Given the description of an element on the screen output the (x, y) to click on. 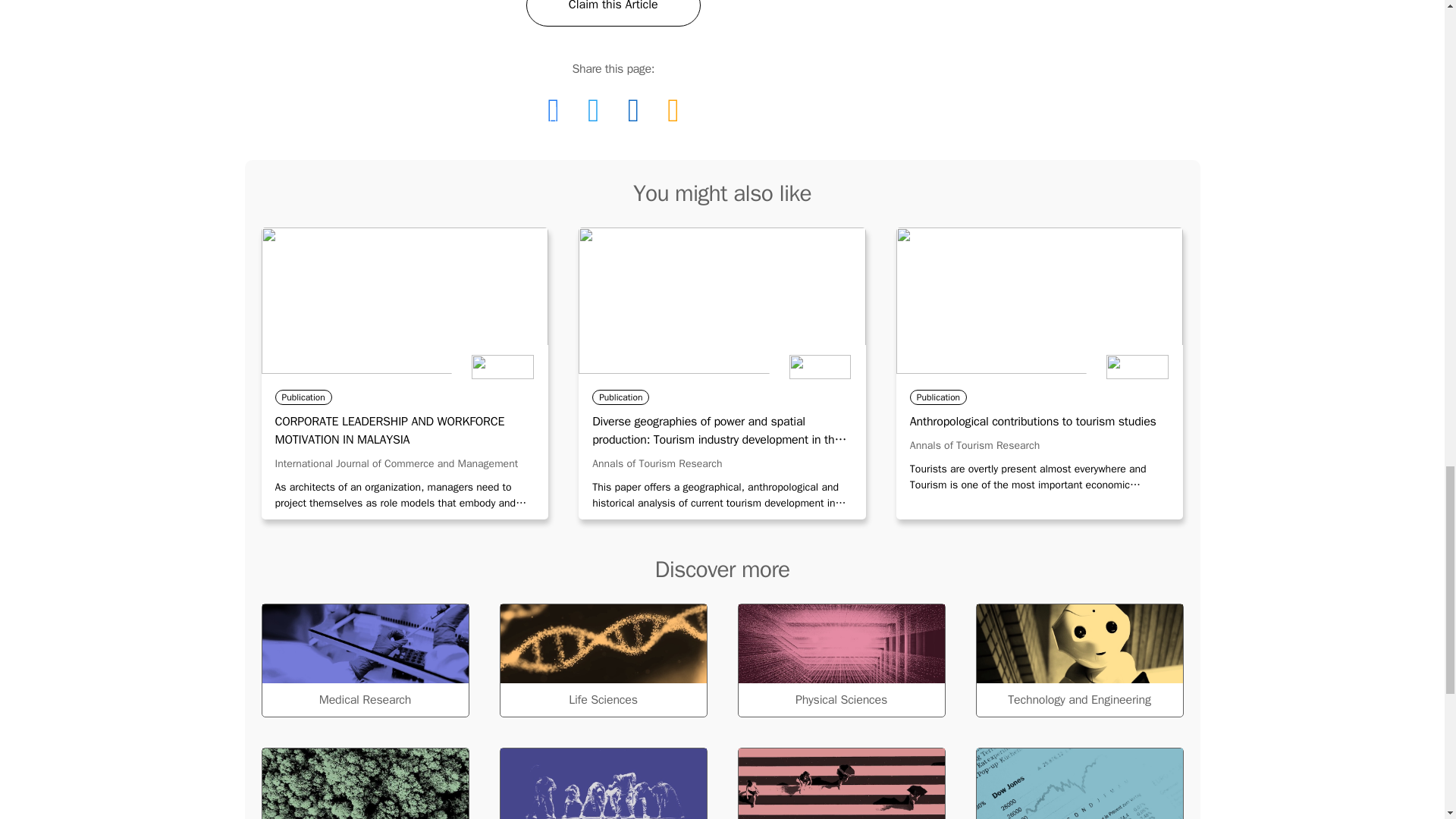
Business and Management (1078, 783)
Share this page via Facebook (553, 109)
International Journal of Commerce and Management (396, 463)
Medical Research (364, 660)
Technology and Engineering (1078, 660)
Annals of Tourism Research (974, 445)
CORPORATE LEADERSHIP AND WORKFORCE MOTIVATION IN MALAYSIA (404, 430)
Share this page via Twitter (593, 109)
Arts and Humanities (602, 783)
Share this page via LinkedIn (633, 109)
Anthropological contributions to tourism studies (1040, 421)
Physical Sciences (840, 660)
Claim this Article (612, 12)
